Given the description of an element on the screen output the (x, y) to click on. 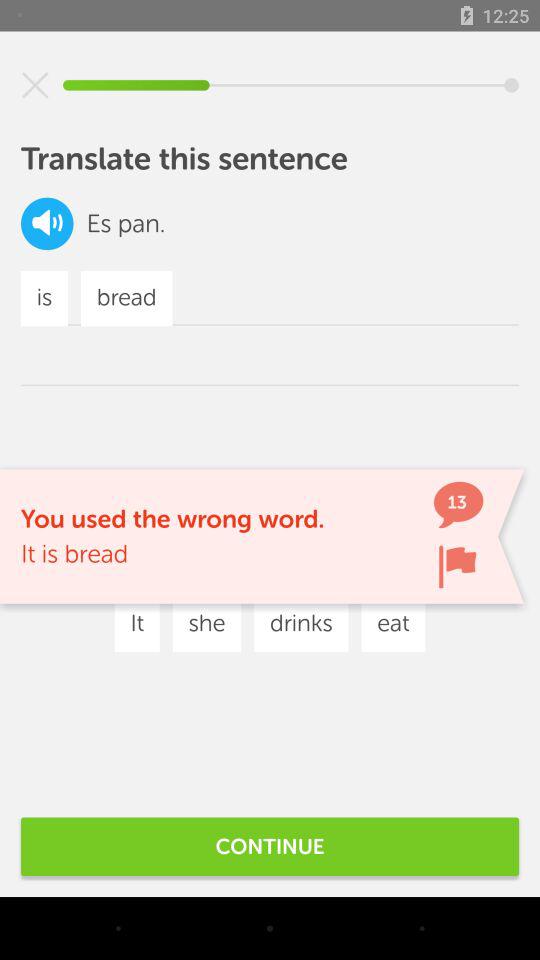
press icon below the you used the (187, 563)
